Given the description of an element on the screen output the (x, y) to click on. 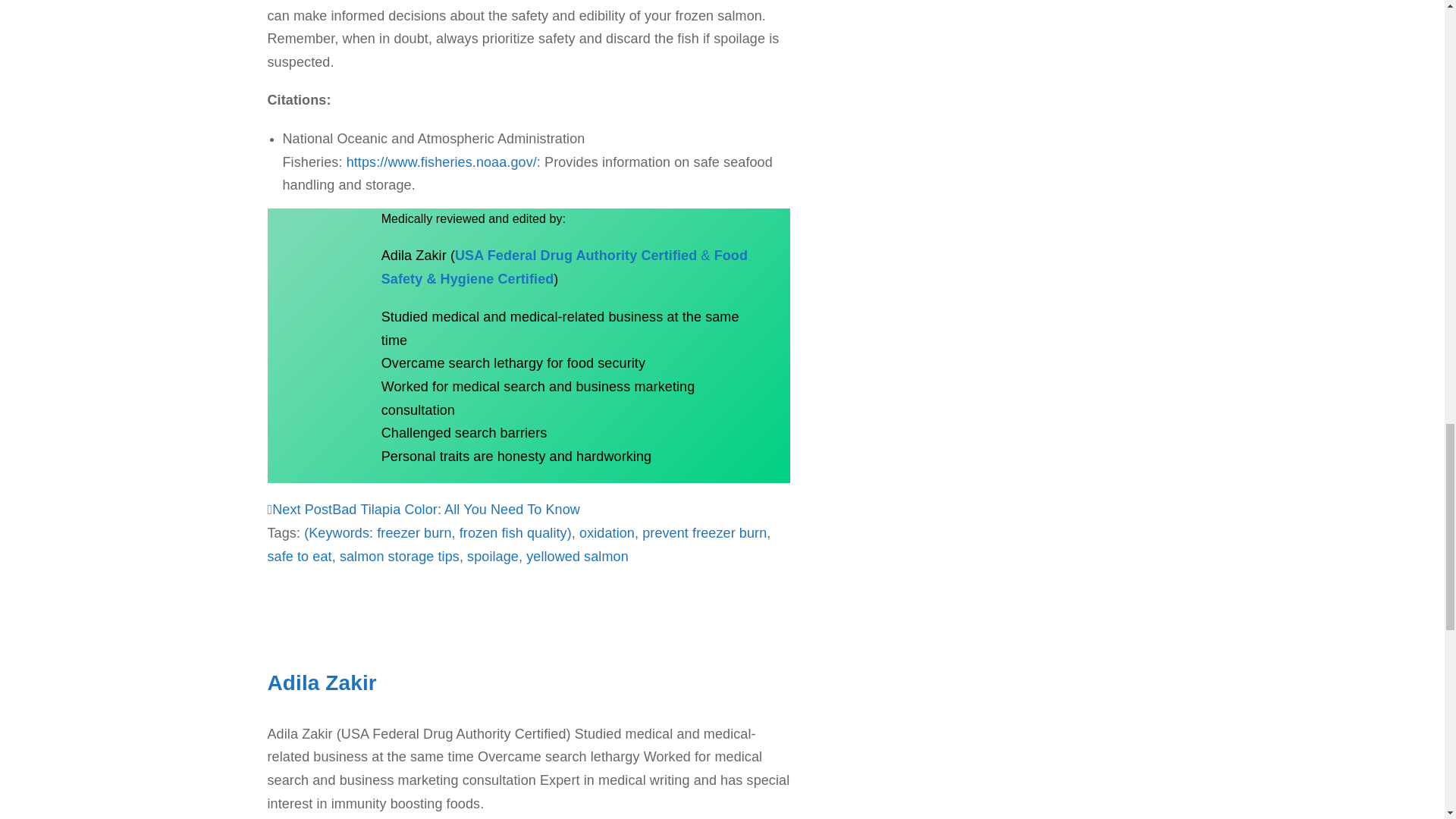
Visit author page (304, 604)
Visit author page (320, 682)
